Given the description of an element on the screen output the (x, y) to click on. 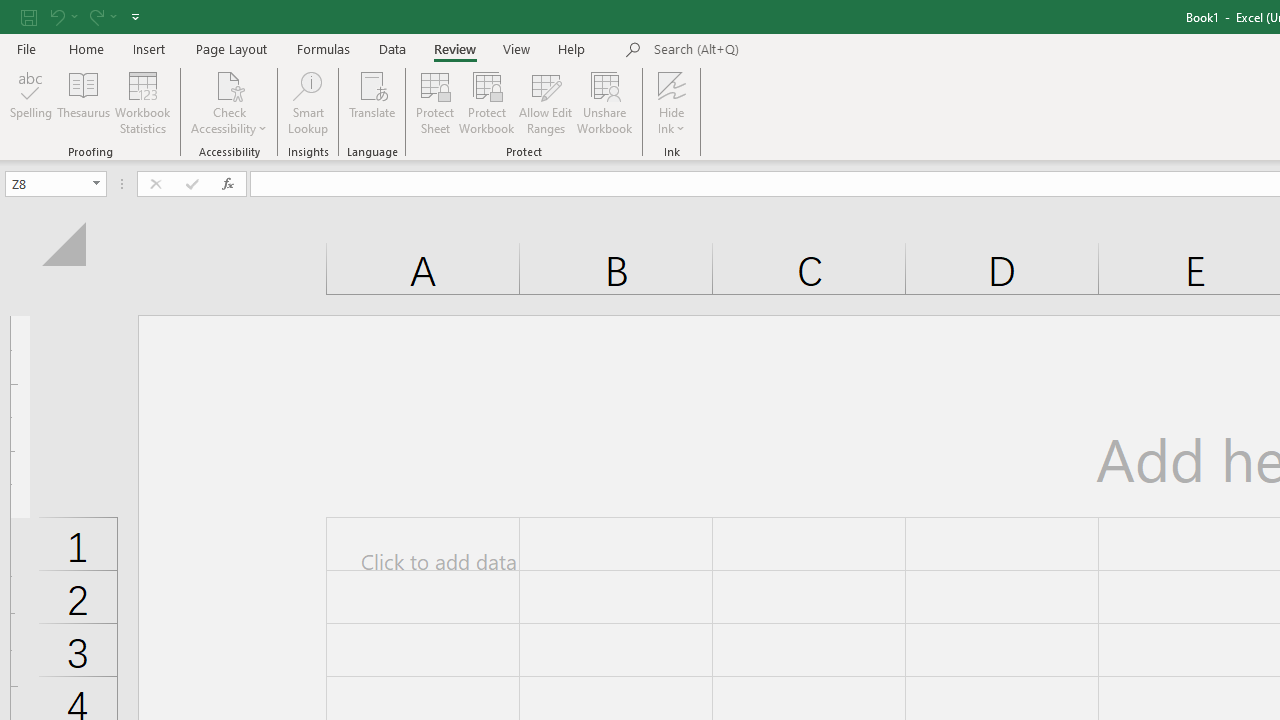
Microsoft search (792, 49)
Allow Edit Ranges (545, 102)
Protect Workbook... (486, 102)
Spelling... (31, 102)
Translate (372, 102)
